Given the description of an element on the screen output the (x, y) to click on. 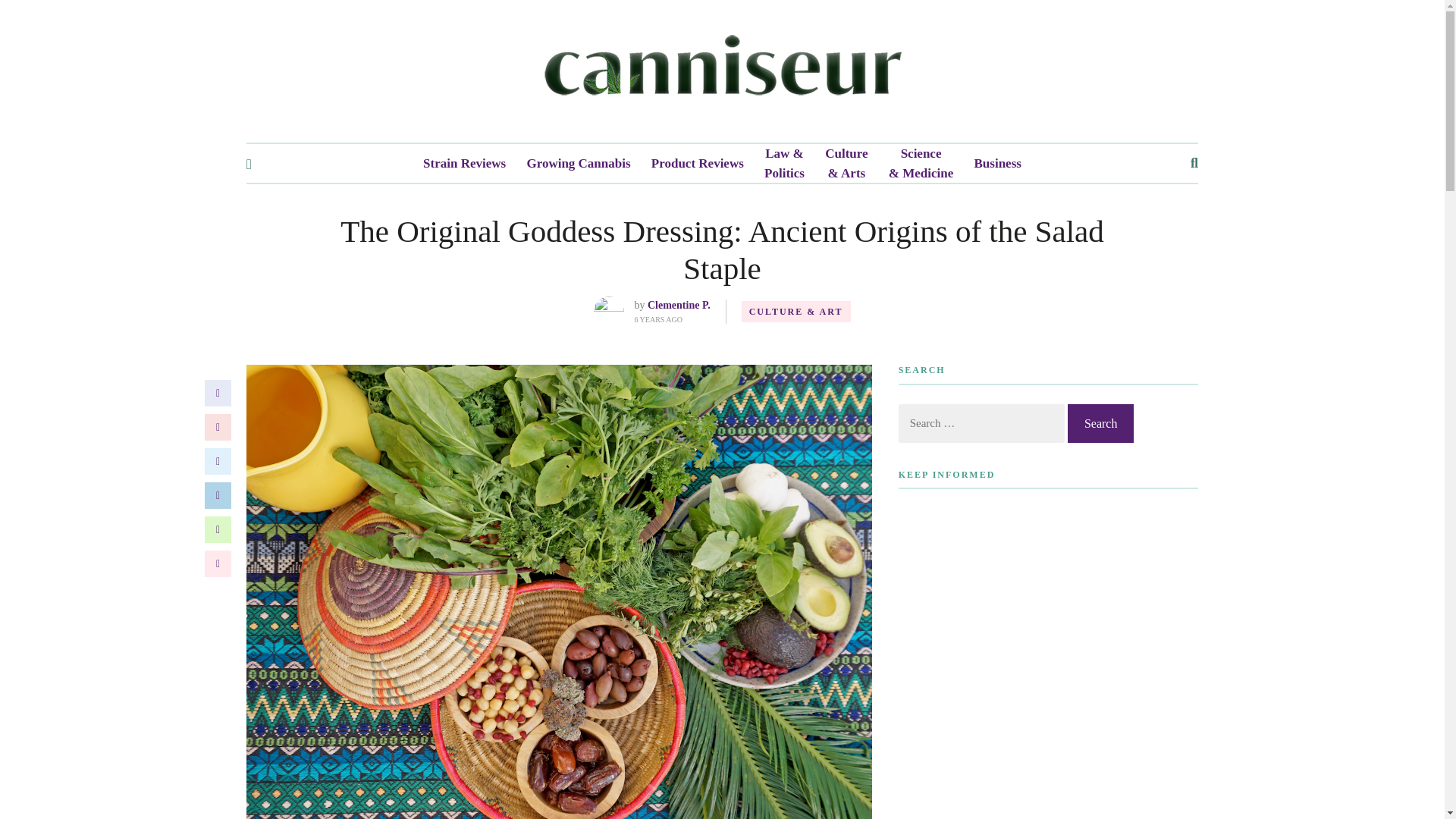
Clementine P. (678, 305)
Growing Cannabis (577, 163)
Canniseur (721, 71)
Search (1100, 423)
Strain Reviews (464, 163)
Business (998, 163)
Search (1100, 423)
Search (1100, 423)
Product Reviews (697, 163)
